Given the description of an element on the screen output the (x, y) to click on. 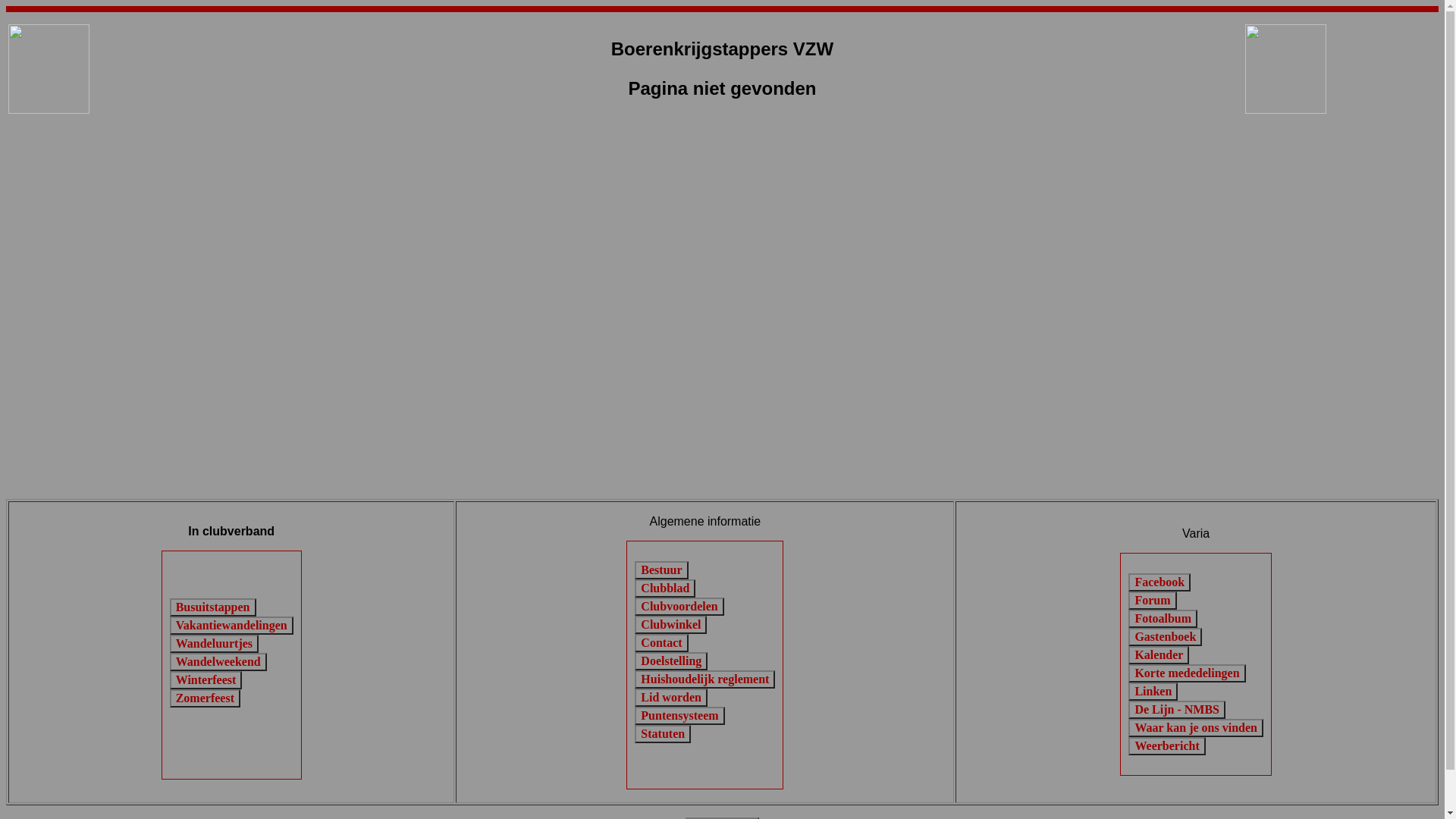
Busuitstappen Element type: text (212, 607)
Gastenboek Element type: text (1164, 636)
Zomerfeest Element type: text (204, 698)
Statuten Element type: text (662, 733)
Facebook Element type: text (1159, 582)
Doelstelling Element type: text (670, 661)
Kalender Element type: text (1158, 655)
Puntensysteem Element type: text (679, 715)
Winterfeest Element type: text (205, 680)
Wandeluurtjes Element type: text (213, 643)
Linken Element type: text (1152, 691)
Contact Element type: text (660, 642)
Waar kan je ons vinden Element type: text (1195, 727)
Huishoudelijk reglement Element type: text (704, 679)
Fotoalbum Element type: text (1162, 618)
Clubwinkel Element type: text (670, 624)
De Lijn - NMBS Element type: text (1176, 709)
Clubblad Element type: text (664, 588)
Lid worden Element type: text (670, 697)
Vakantiewandelingen Element type: text (231, 625)
Clubvoordelen Element type: text (678, 606)
Korte mededelingen Element type: text (1186, 673)
Bestuur Element type: text (660, 570)
Wandelweekend Element type: text (217, 661)
Weerbericht Element type: text (1166, 746)
Forum Element type: text (1152, 600)
